Given the description of an element on the screen output the (x, y) to click on. 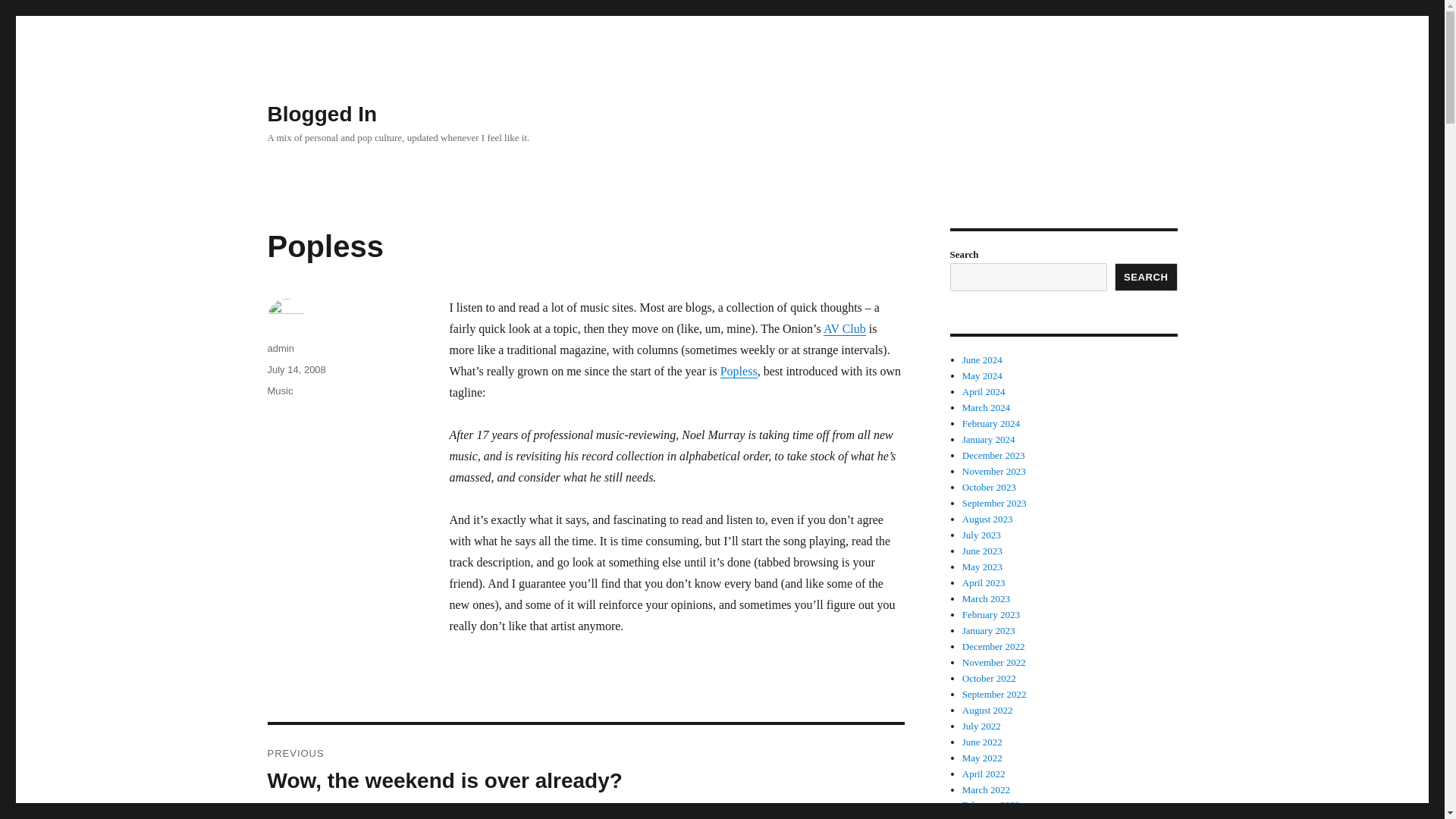
Popless (738, 370)
July 14, 2008 (295, 369)
AV Club (845, 328)
Blogged In (321, 114)
admin (280, 348)
Music (279, 390)
